Given the description of an element on the screen output the (x, y) to click on. 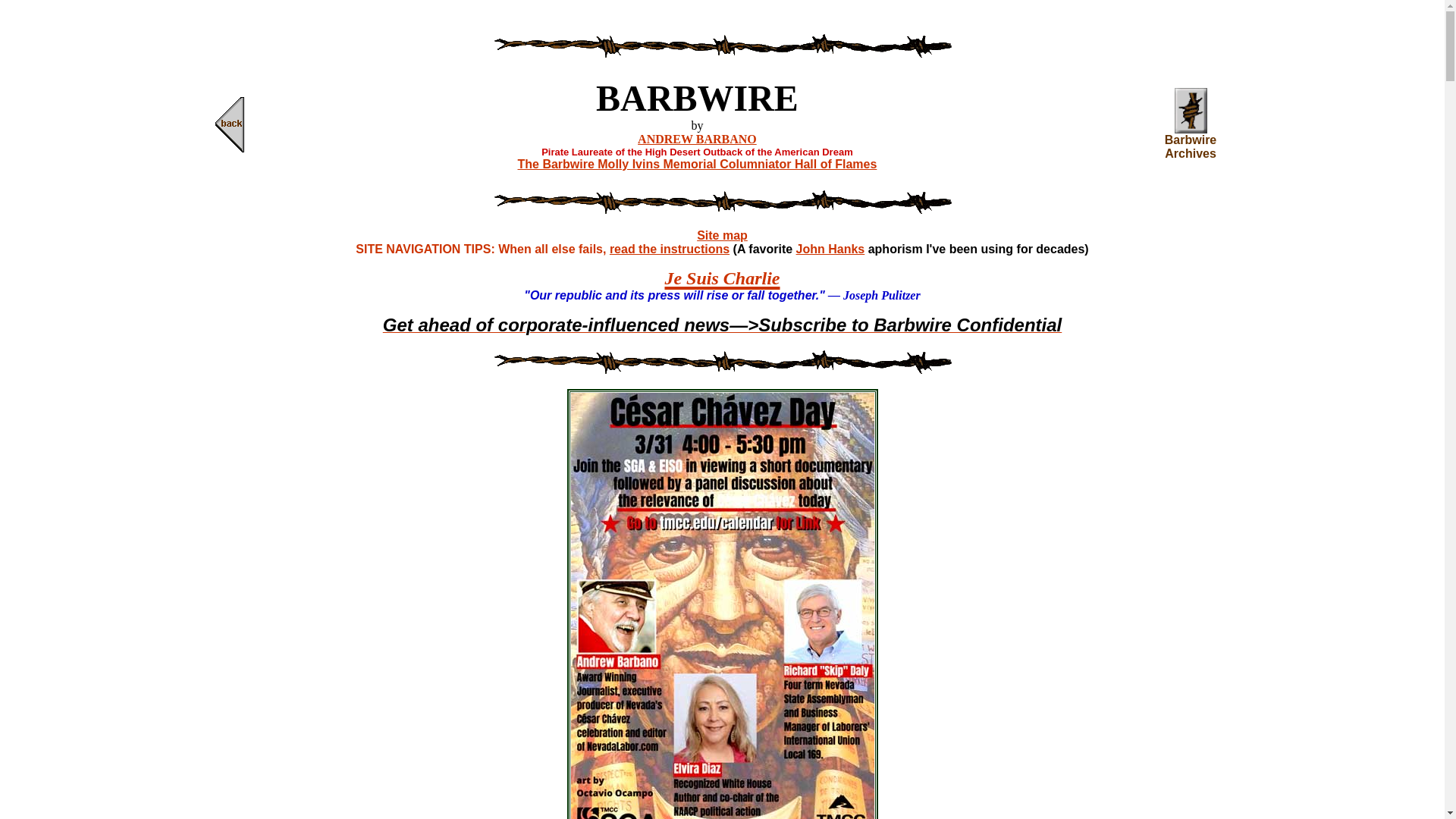
Je Suis Charlie (720, 271)
read the instructions (669, 248)
John Hanks (830, 248)
The Barbwire Molly Ivins Memorial Columniator Hall of Flames (696, 164)
Site map (722, 235)
ANDREW BARBANO (697, 138)
